Given the description of an element on the screen output the (x, y) to click on. 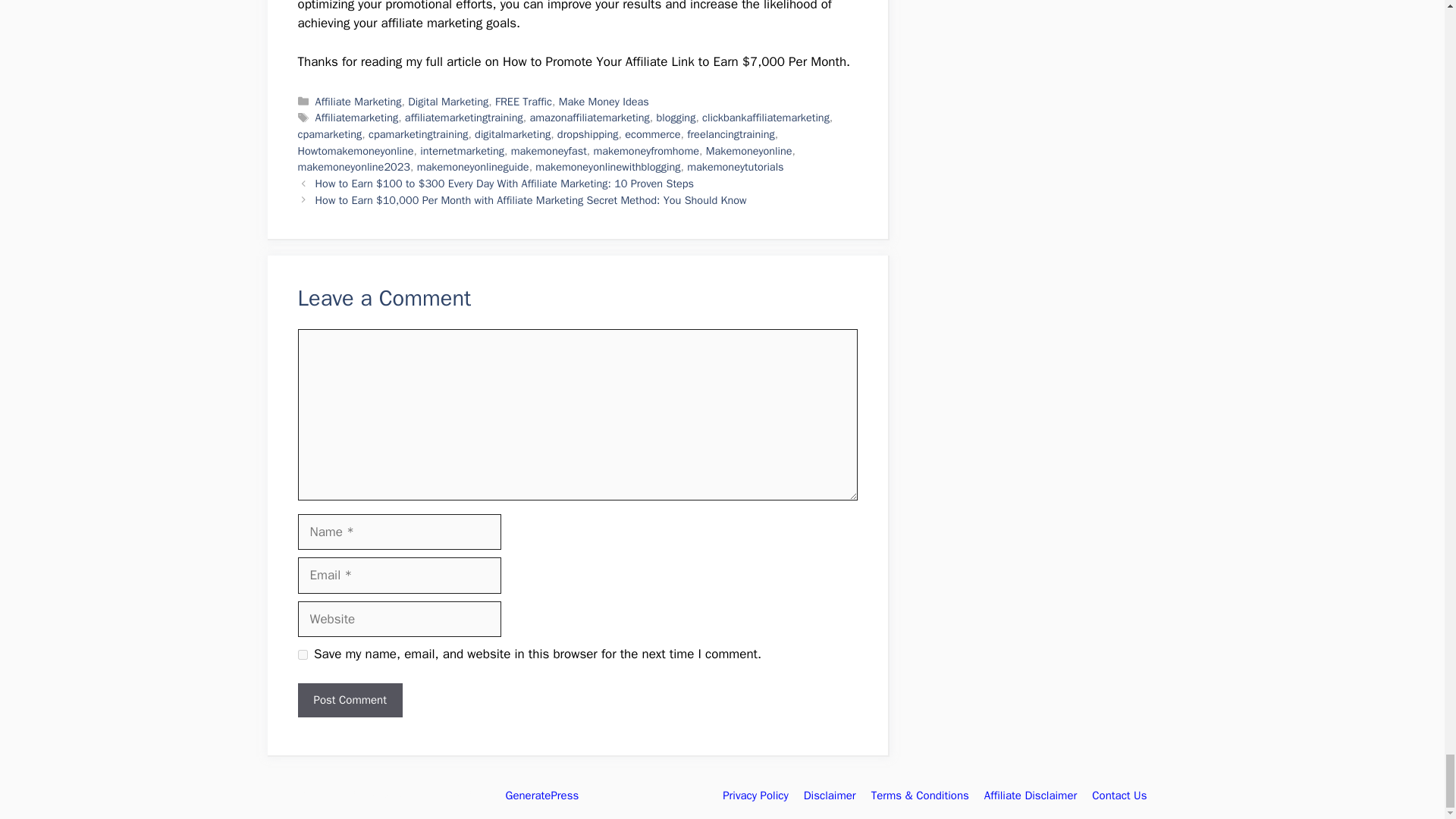
cpamarketing (329, 133)
Post Comment (349, 700)
yes (302, 655)
digitalmarketing (512, 133)
blogging (675, 117)
clickbankaffiliatemarketing (765, 117)
Make Money Ideas (604, 101)
FREE Traffic (523, 101)
Digital Marketing (447, 101)
Affiliate Marketing (358, 101)
dropshipping (587, 133)
affiliatemarketingtraining (463, 117)
Affiliatemarketing (356, 117)
amazonaffiliatemarketing (589, 117)
cpamarketingtraining (417, 133)
